Given the description of an element on the screen output the (x, y) to click on. 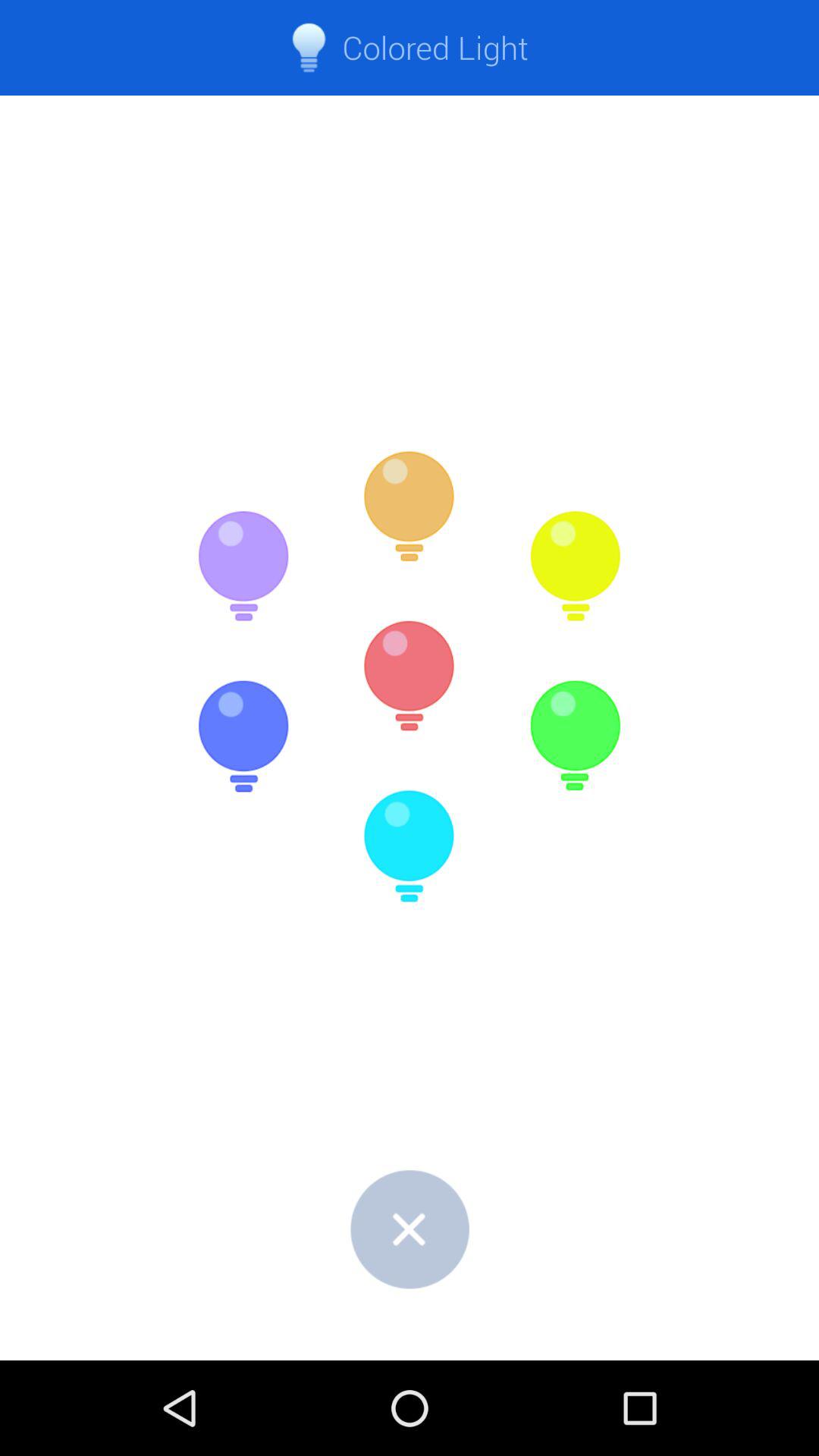
closes the application page (409, 1228)
